Given the description of an element on the screen output the (x, y) to click on. 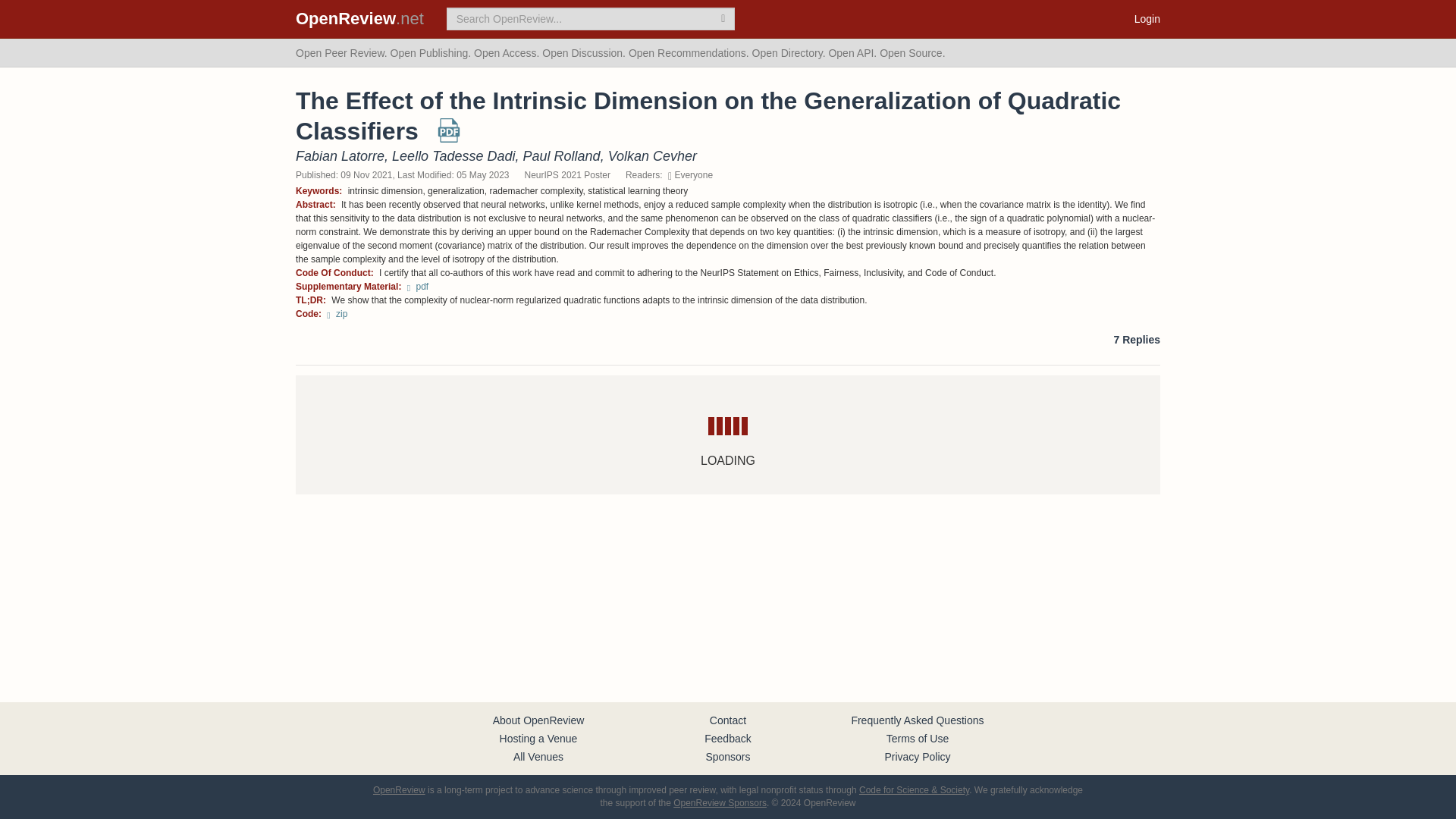
Volkan Cevher (652, 155)
About OpenReview (539, 720)
Frequently Asked Questions (917, 720)
Privacy Policy (916, 756)
Hosting a Venue (538, 738)
OpenReview.net (359, 18)
Leello Tadesse Dadi (453, 155)
Sponsors (726, 756)
Login (1147, 18)
Terms of Use (917, 738)
